Given the description of an element on the screen output the (x, y) to click on. 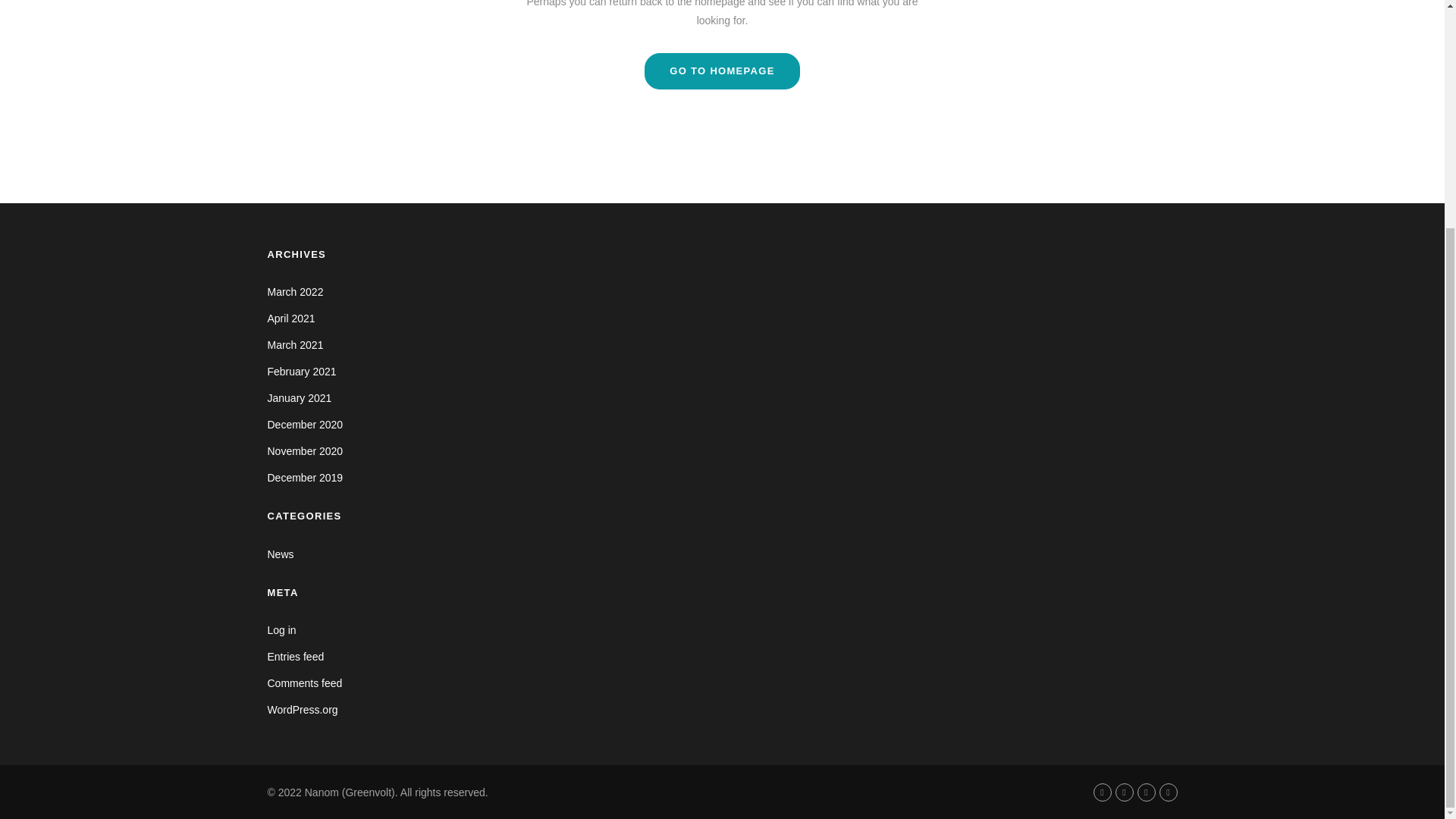
GO TO HOMEPAGE (722, 71)
April 2021 (290, 318)
Entries feed (294, 656)
WordPress.org (301, 709)
March 2022 (294, 291)
News (280, 553)
November 2020 (304, 451)
February 2021 (301, 371)
Log in (280, 630)
Comments feed (304, 683)
January 2021 (298, 398)
December 2019 (304, 477)
March 2021 (294, 345)
December 2020 (304, 424)
